Given the description of an element on the screen output the (x, y) to click on. 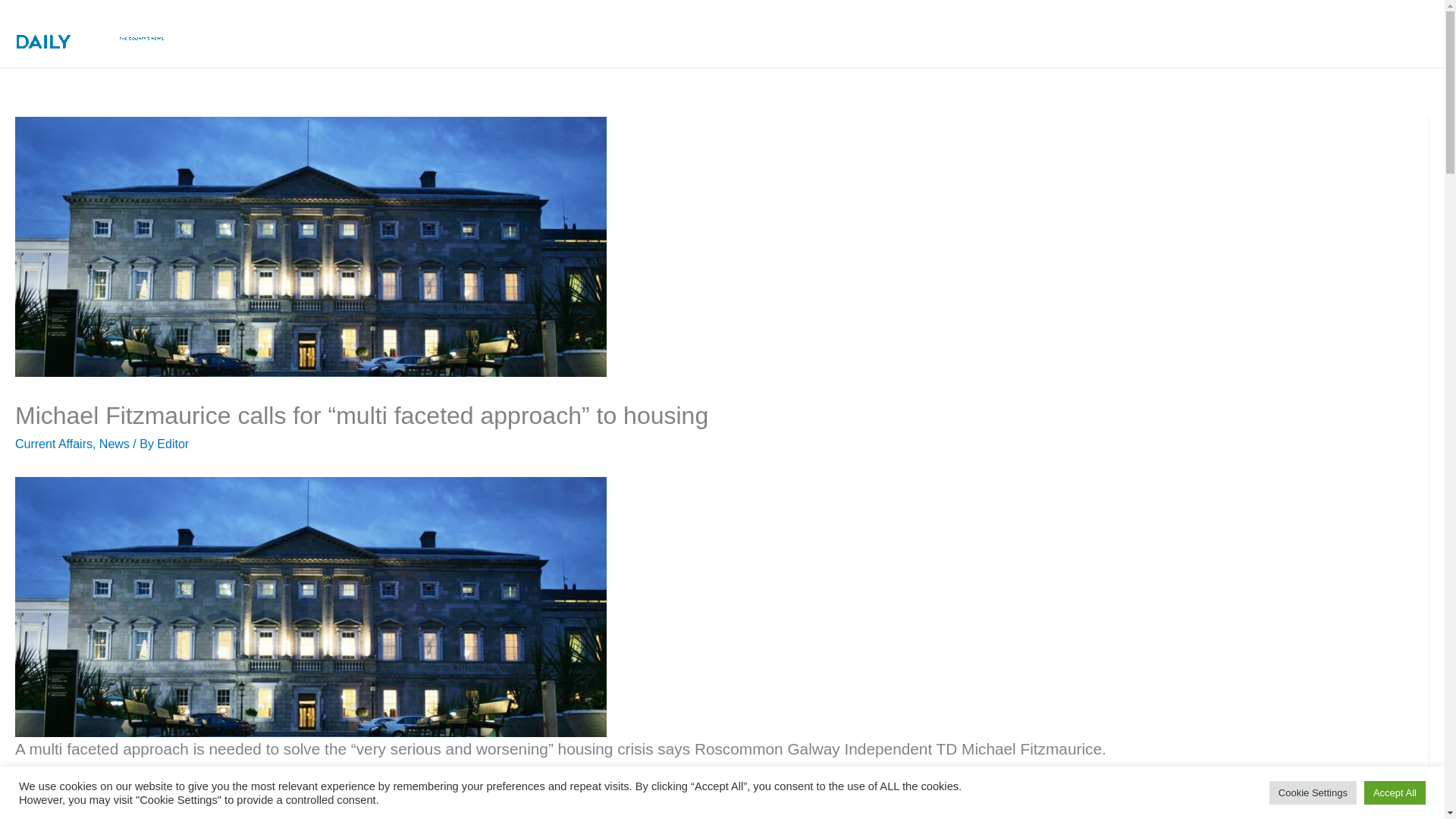
News (114, 443)
HOME (634, 33)
Current Affairs (53, 443)
CONTACT US (1371, 33)
BUSINESS DIRECTORY (1161, 33)
View all posts by Editor (173, 443)
Editor (173, 443)
JOBS (1276, 33)
HOUSES FOR SALE (1004, 33)
SPORT (894, 33)
DEATH NOTICES (800, 33)
NEWS (703, 33)
